Given the description of an element on the screen output the (x, y) to click on. 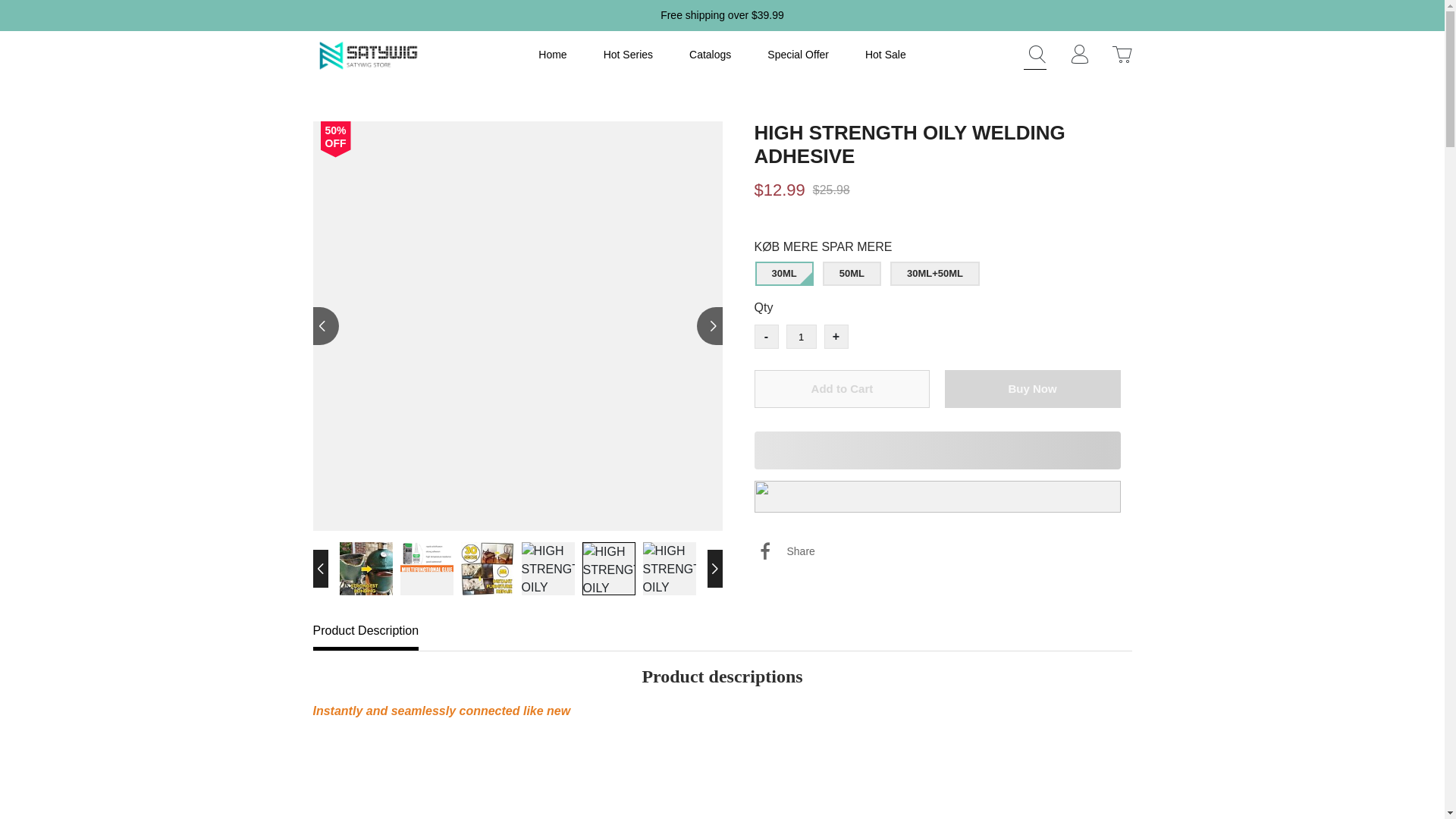
Home (552, 54)
Hot Series (628, 54)
Special Offer (797, 54)
Hot Sale (884, 54)
- (765, 336)
Catalogs (709, 54)
1 (800, 336)
